Given the description of an element on the screen output the (x, y) to click on. 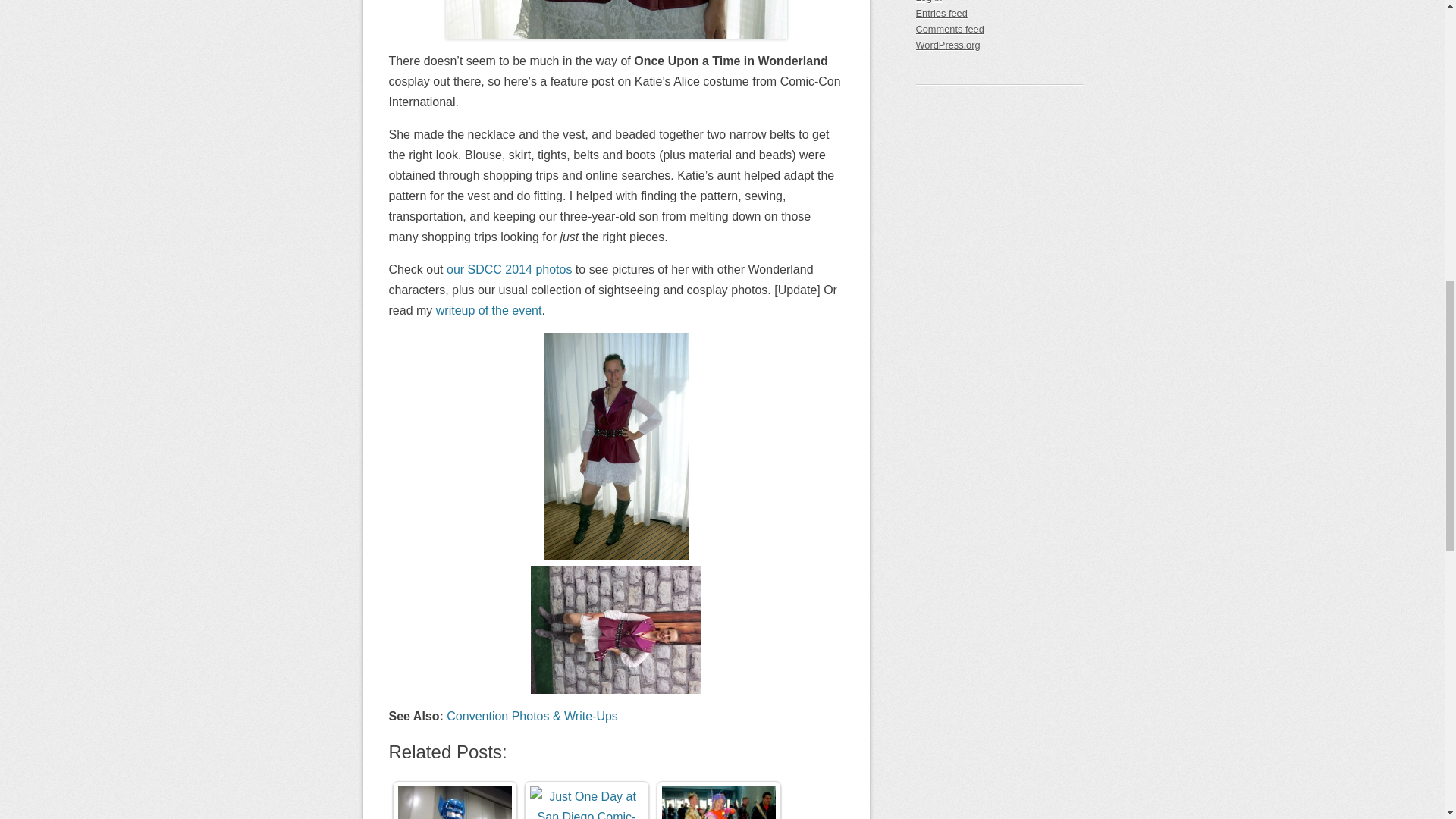
our SDCC 2014 photos (509, 269)
writeup of the event (488, 309)
It's a Wonderful Con - WonderCon 2015 (717, 802)
Just One Day at San Diego Comic-Con 2011 (586, 802)
Just One Day at San Diego Comic-Con 2011 (586, 802)
It's a Wonderful Con - WonderCon 2015 (717, 802)
